Given the description of an element on the screen output the (x, y) to click on. 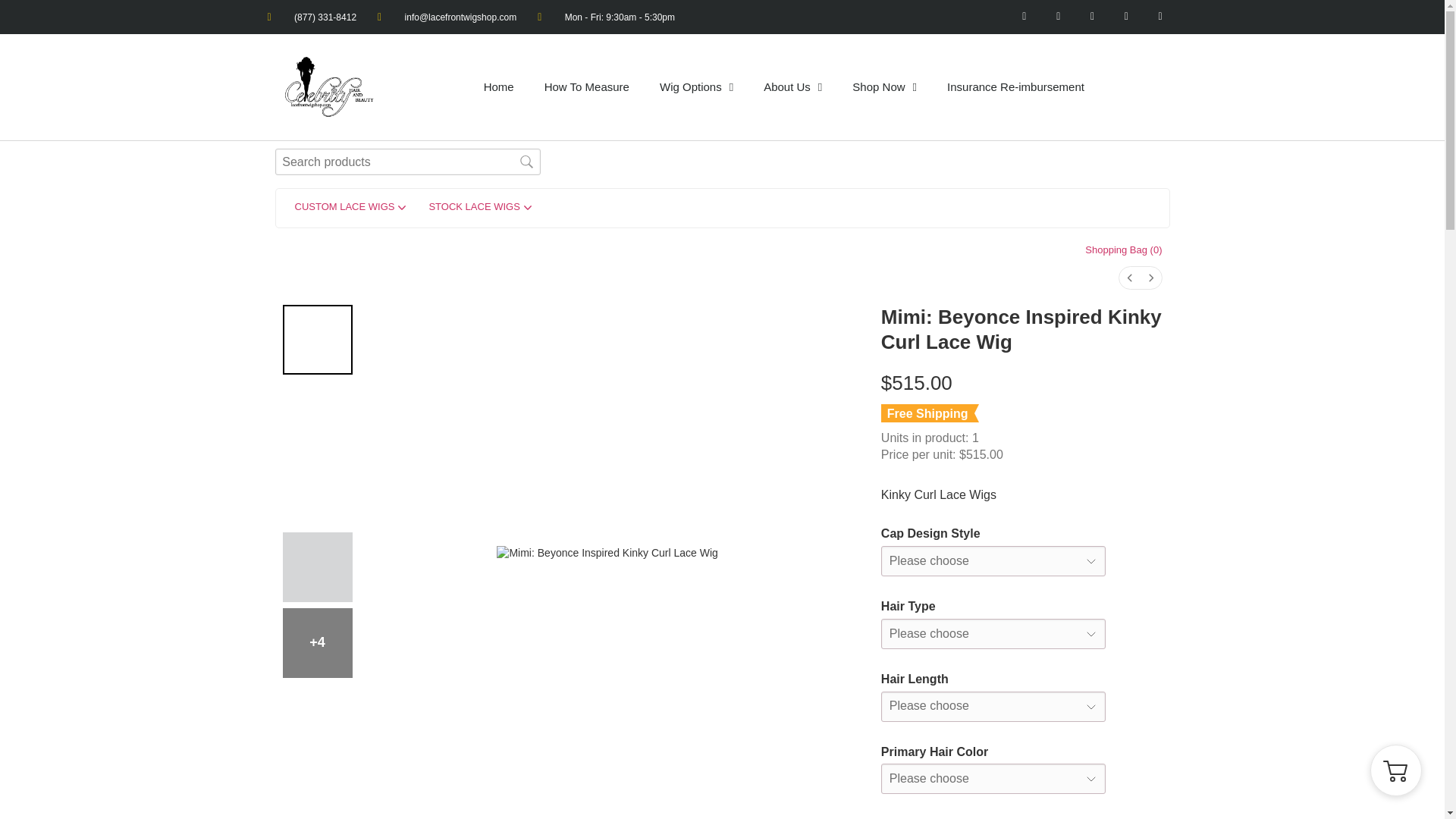
Wig Options (696, 87)
CUSTOM LACE WIGS (350, 207)
Shop Now (884, 87)
Insurance Re-imbursement (1015, 87)
STOCK LACE WIGS (478, 207)
How To Measure (587, 87)
